Given the description of an element on the screen output the (x, y) to click on. 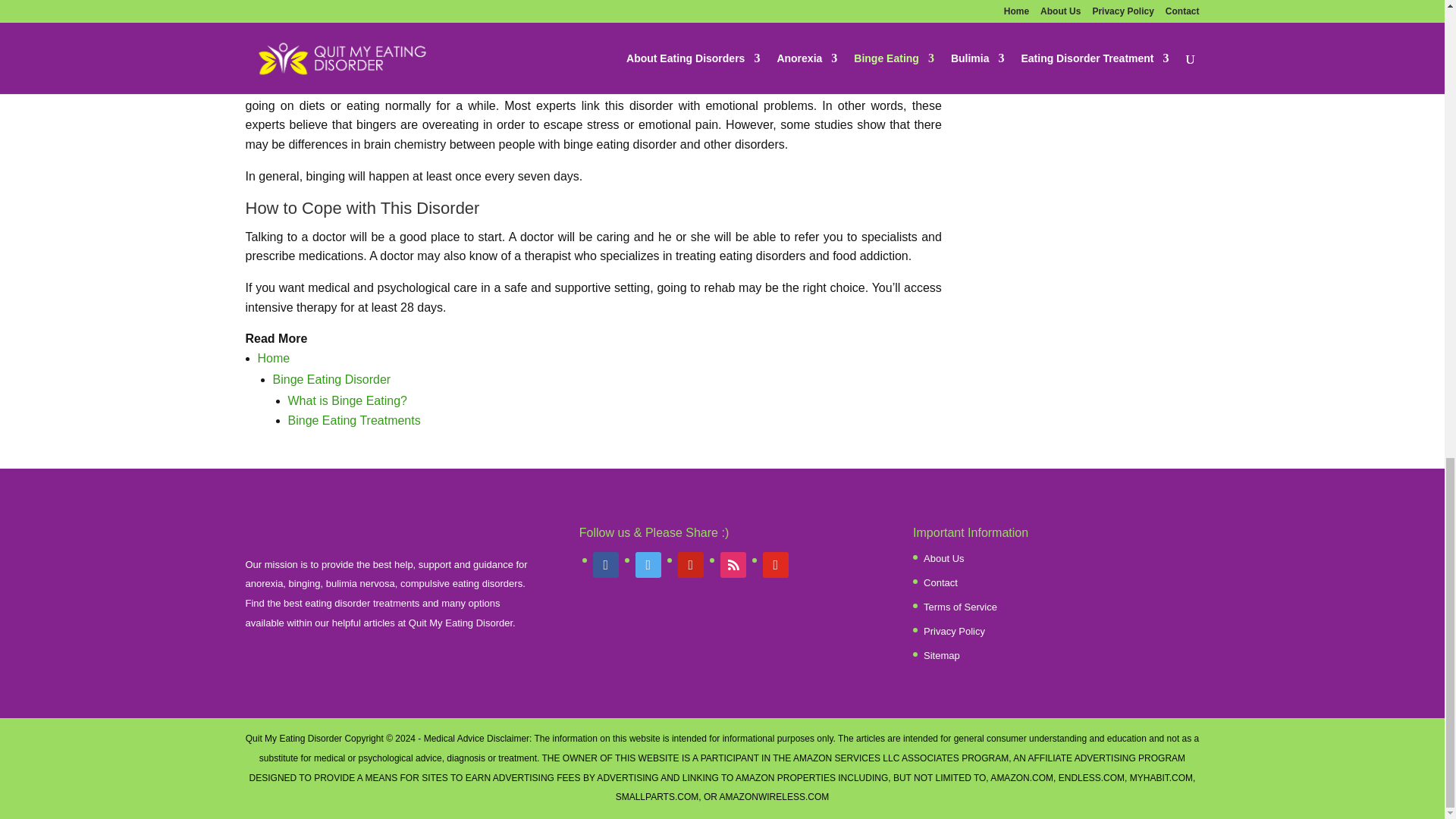
Default Label (690, 563)
Facebook (605, 563)
Twitter (647, 563)
Instagram (732, 563)
